Given the description of an element on the screen output the (x, y) to click on. 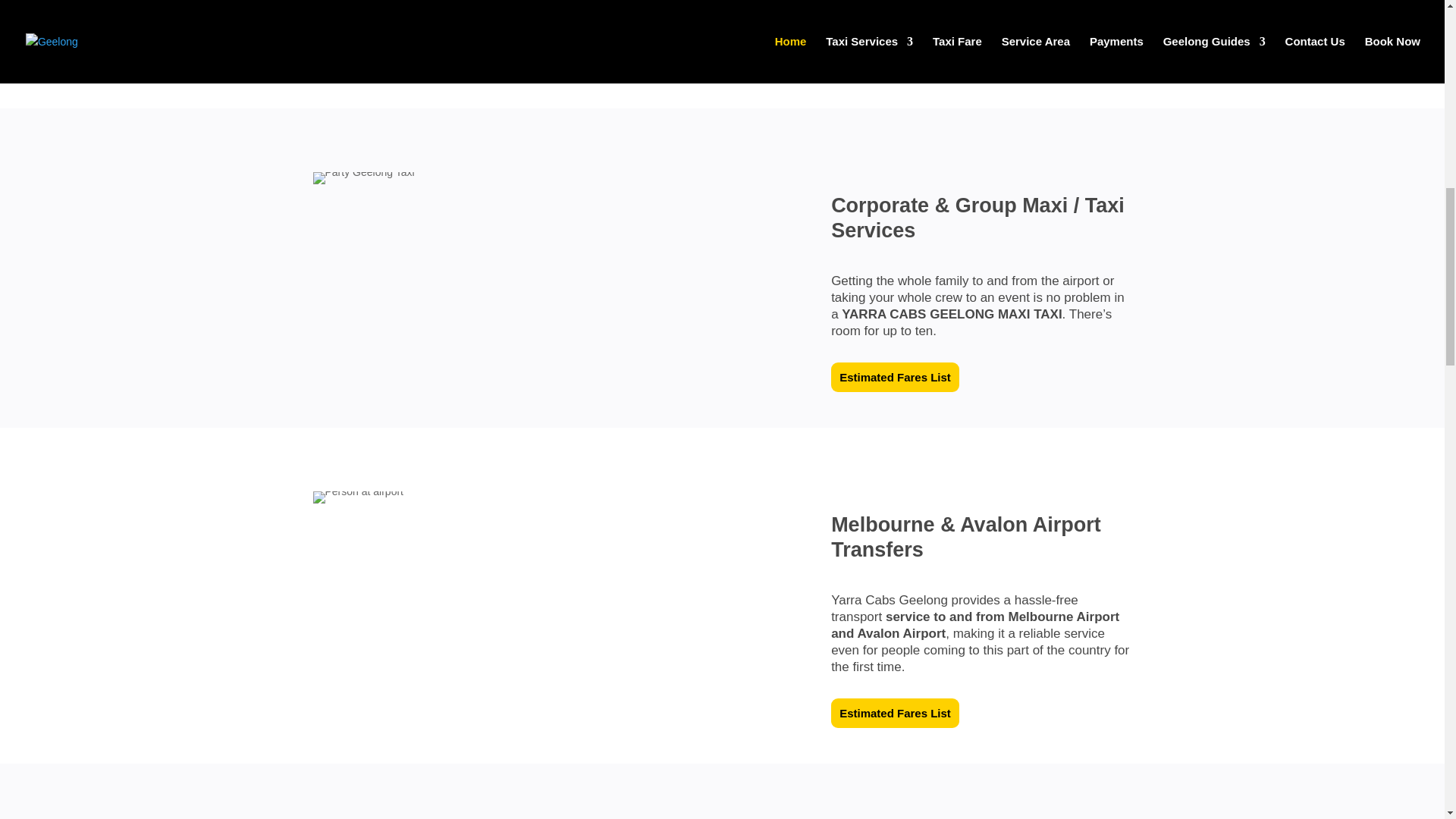
Wheelchair Taxi - Yarra Cabs Geelong (489, 36)
Airport Taxis - Yarra Cabs Geelong (358, 497)
Estimated Fares List (895, 377)
Maxi Taxi- Yarra Cabs Geelong (363, 177)
Estimated Fares List (895, 713)
